Given the description of an element on the screen output the (x, y) to click on. 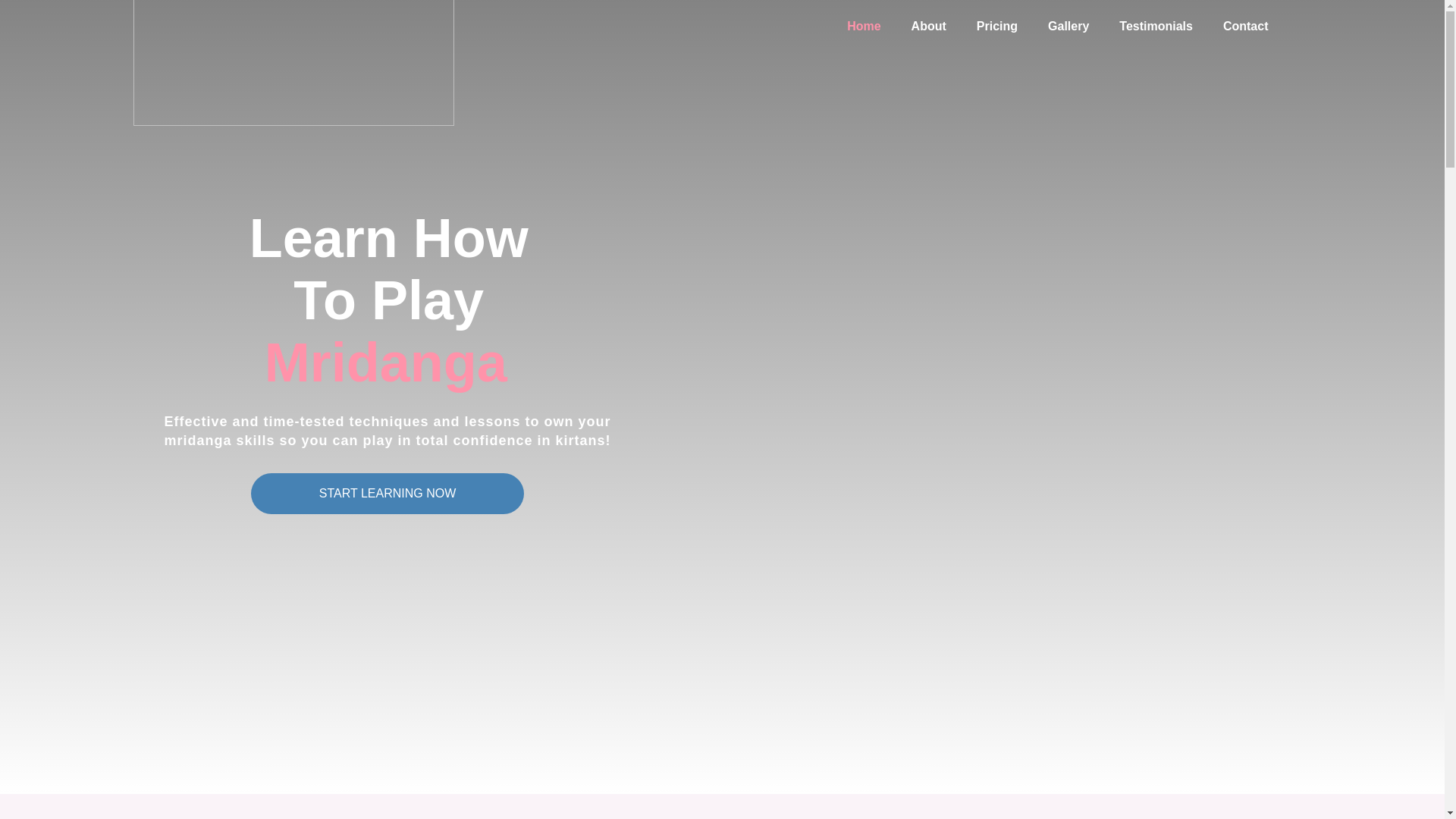
Home (863, 25)
Gallery (1067, 25)
START LEARNING NOW (387, 493)
Pricing (996, 25)
About (928, 25)
Contact (1246, 25)
Testimonials (1155, 25)
